Given the description of an element on the screen output the (x, y) to click on. 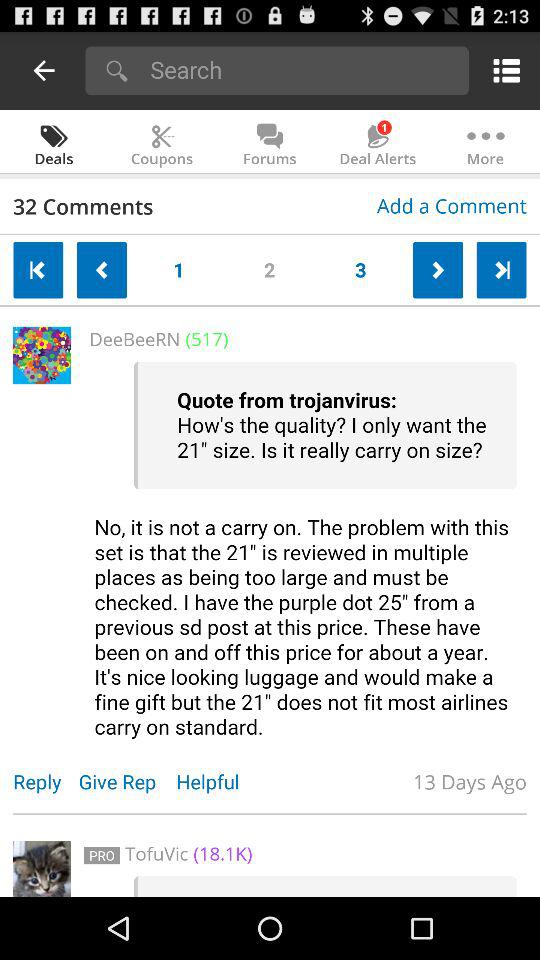
launch item next to the 1 icon (269, 266)
